Given the description of an element on the screen output the (x, y) to click on. 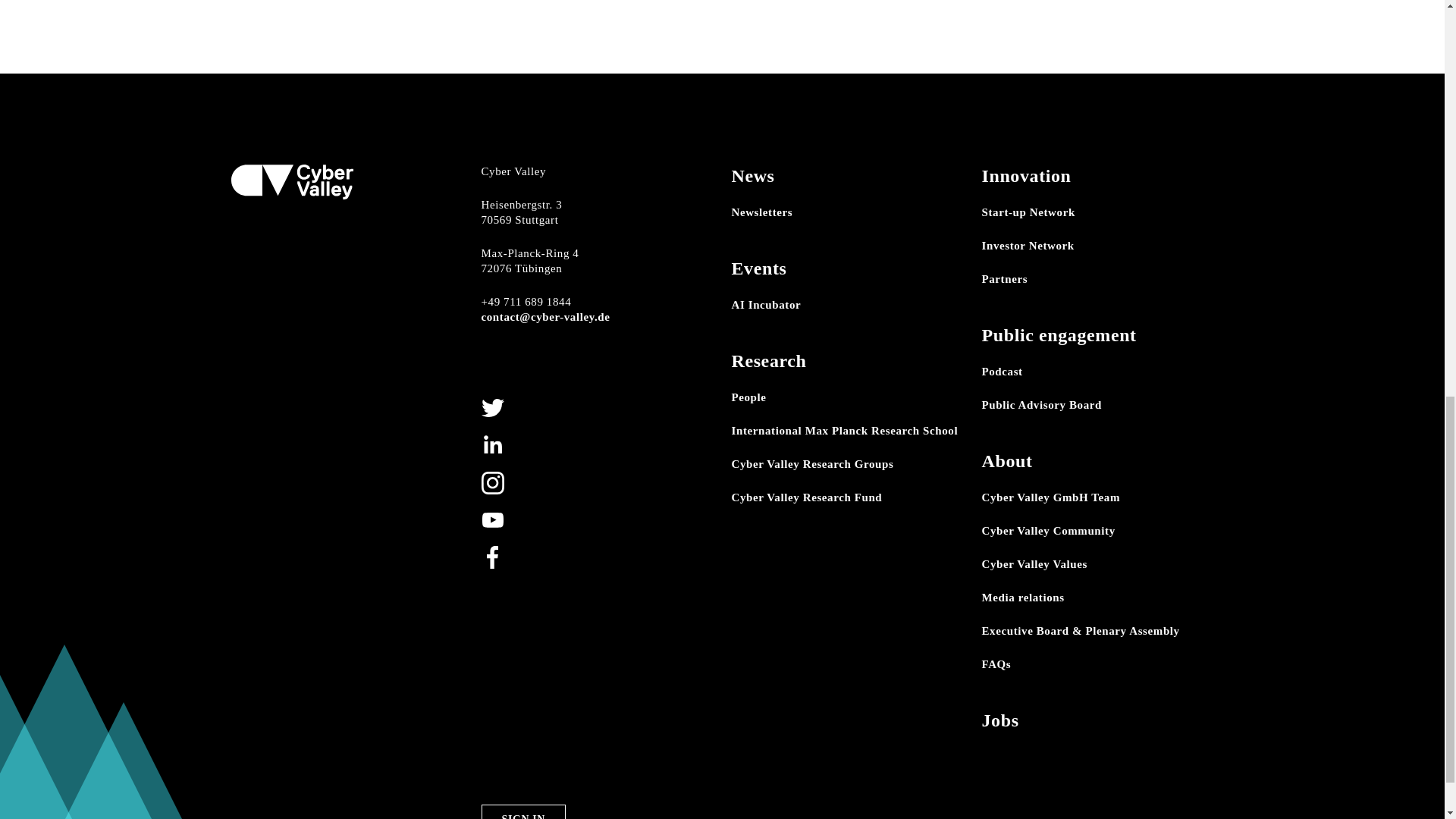
International Max Planck Research School (844, 430)
Newsletters (761, 212)
Research (768, 361)
Cyber Valley (291, 180)
Cyber Valley (291, 181)
News (752, 175)
People (747, 397)
AI Incubator (765, 304)
Events (758, 268)
